Given the description of an element on the screen output the (x, y) to click on. 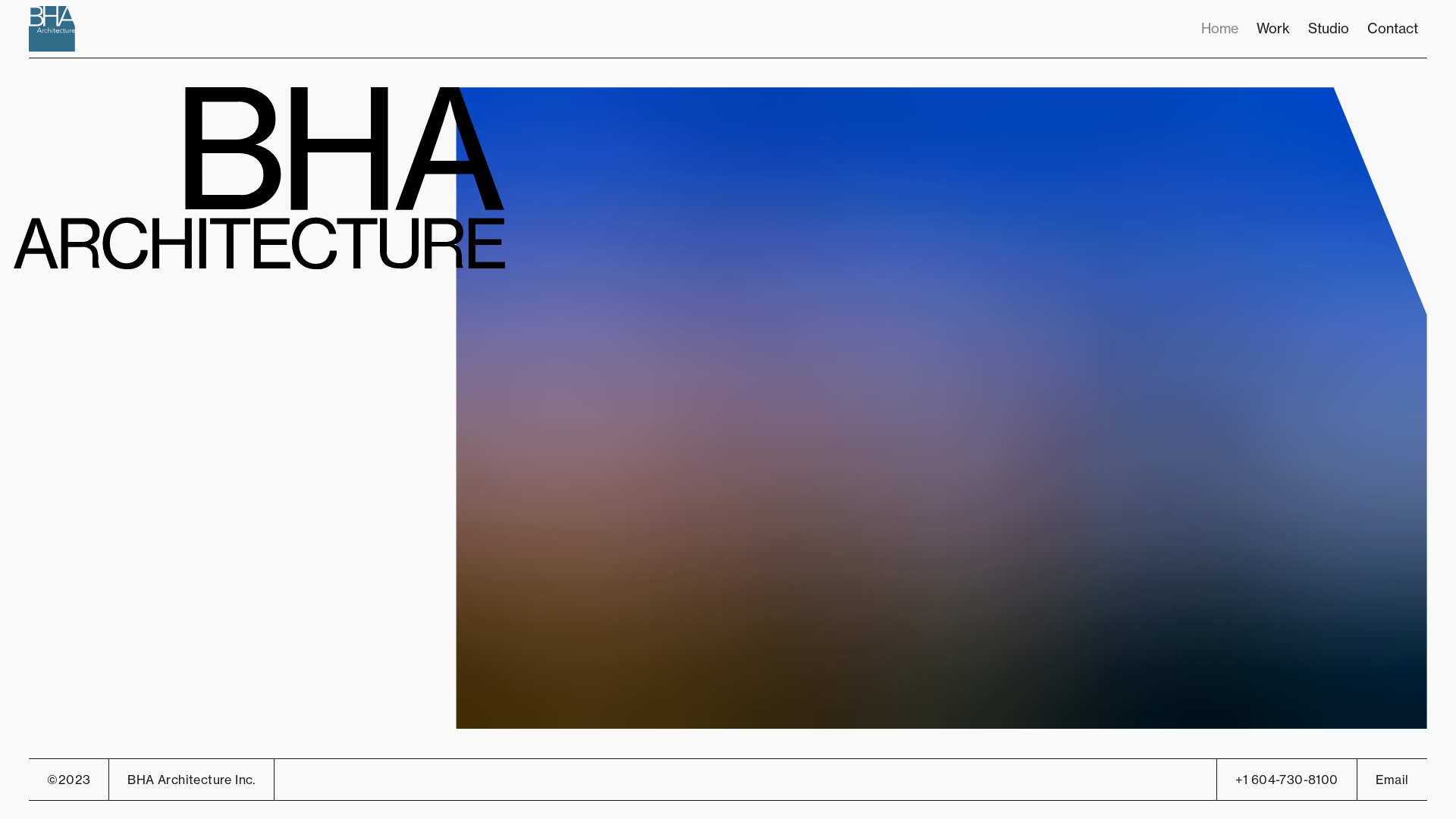
Contact Element type: text (1392, 28)
Studio Element type: text (1328, 28)
Work Element type: text (1273, 28)
Home Element type: text (1219, 28)
Email Element type: text (1391, 779)
